Given the description of an element on the screen output the (x, y) to click on. 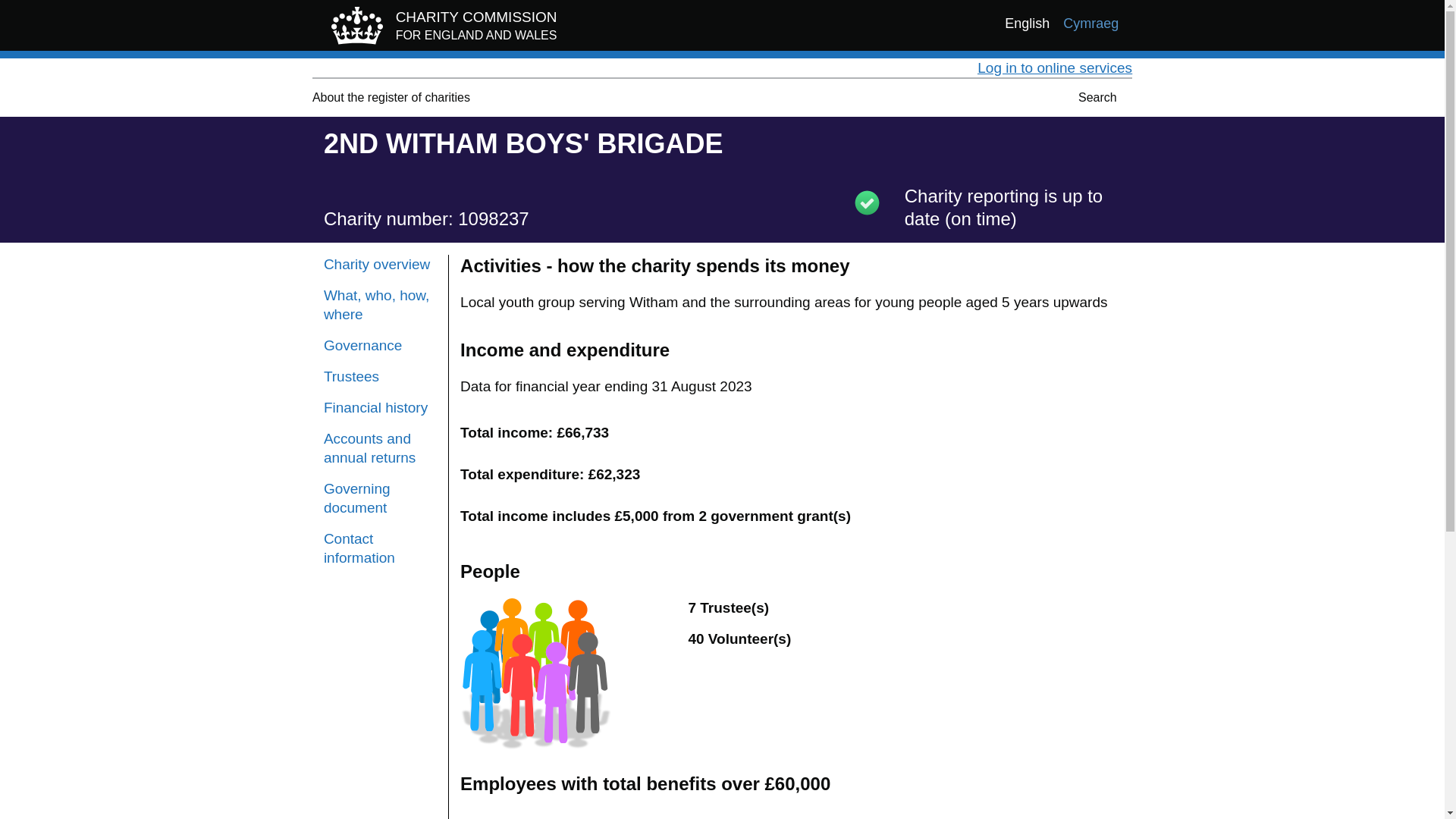
Governance (379, 344)
Contact information (379, 548)
Cymraeg (1091, 23)
What, who, how, where (439, 28)
About the register of charities (379, 304)
About the register of charities (391, 97)
Trustees (391, 97)
Log in to online services (379, 375)
Financial history (1054, 67)
Charity overview (379, 407)
Accounts and annual returns (379, 263)
Governing document (379, 447)
